Given the description of an element on the screen output the (x, y) to click on. 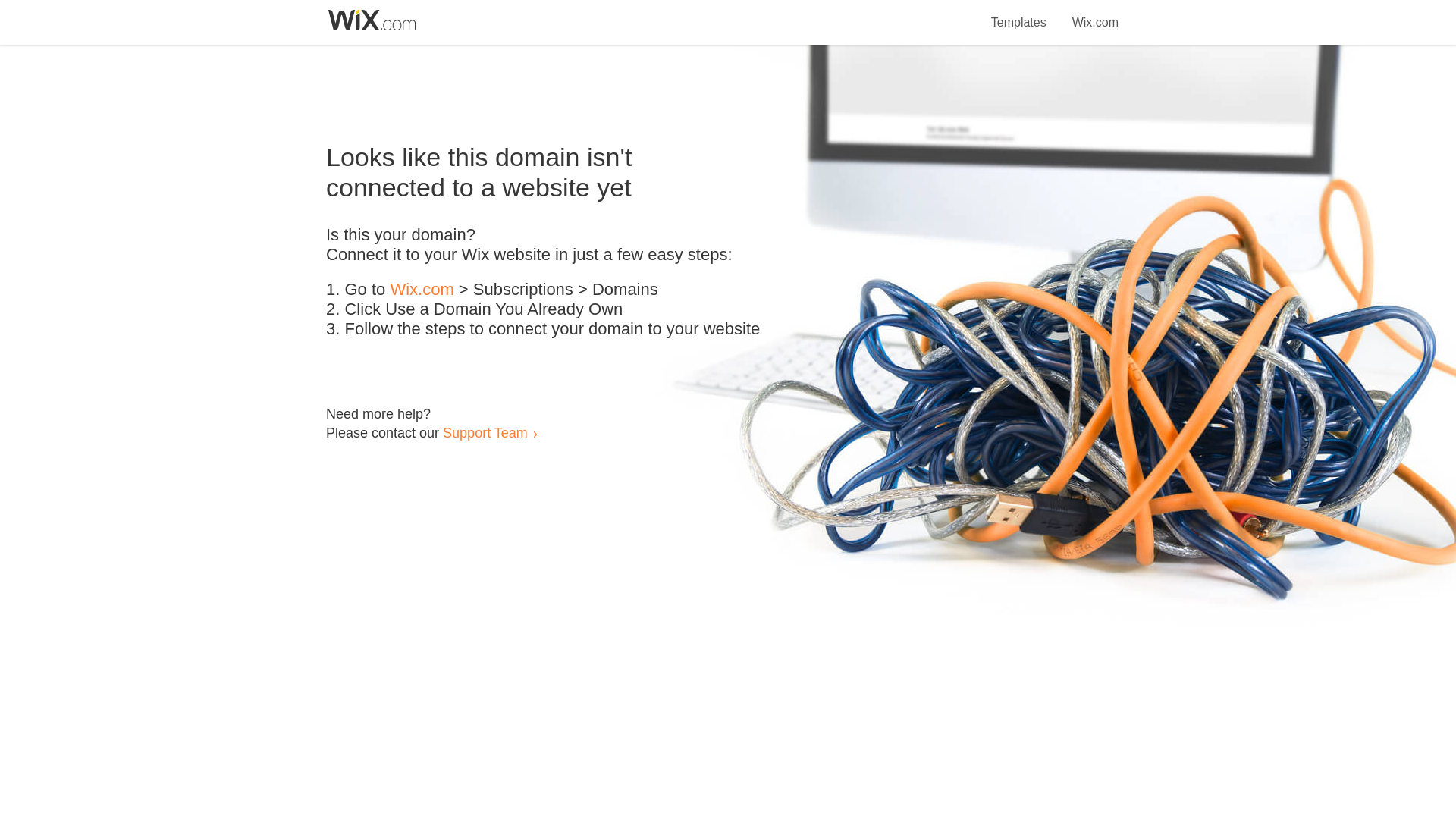
Wix.com (421, 289)
Wix.com (1095, 14)
Support Team (484, 432)
Templates (1018, 14)
